Given the description of an element on the screen output the (x, y) to click on. 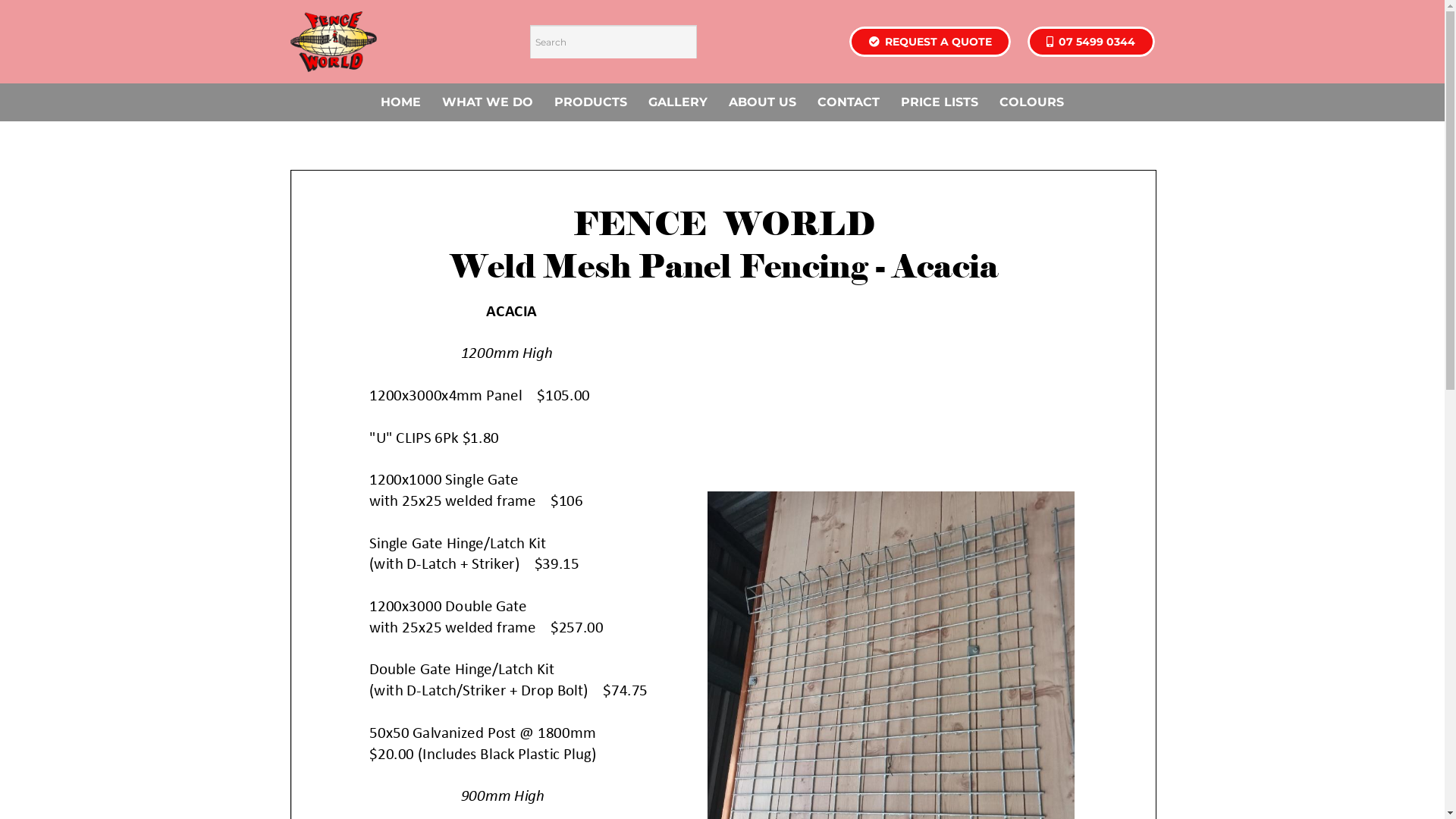
GALLERY Element type: text (677, 102)
REQUEST A QUOTE Element type: text (929, 41)
COLOURS Element type: text (1031, 102)
PRODUCTS Element type: text (590, 102)
ABOUT US Element type: text (762, 102)
PRICE LISTS Element type: text (939, 102)
07 5499 0344 Element type: text (1090, 41)
WHAT WE DO Element type: text (487, 102)
CONTACT Element type: text (848, 102)
HOME Element type: text (400, 102)
